Given the description of an element on the screen output the (x, y) to click on. 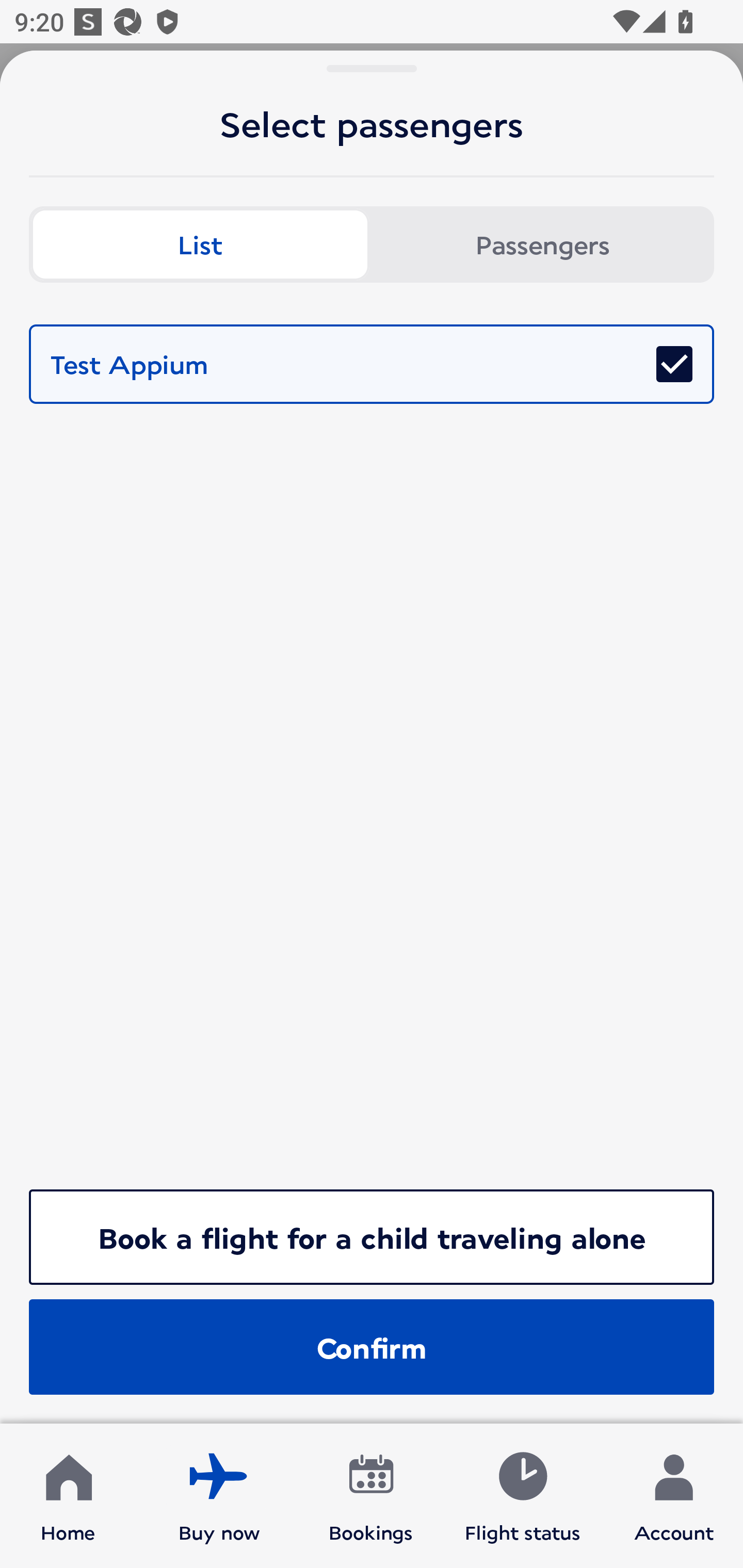
List (200, 244)
Passengers (542, 244)
Test Appium (371, 364)
Book a flight for a child traveling alone (371, 1237)
Confirm (371, 1346)
Home (68, 1495)
Bookings (370, 1495)
Flight status (522, 1495)
Account (674, 1495)
